Given the description of an element on the screen output the (x, y) to click on. 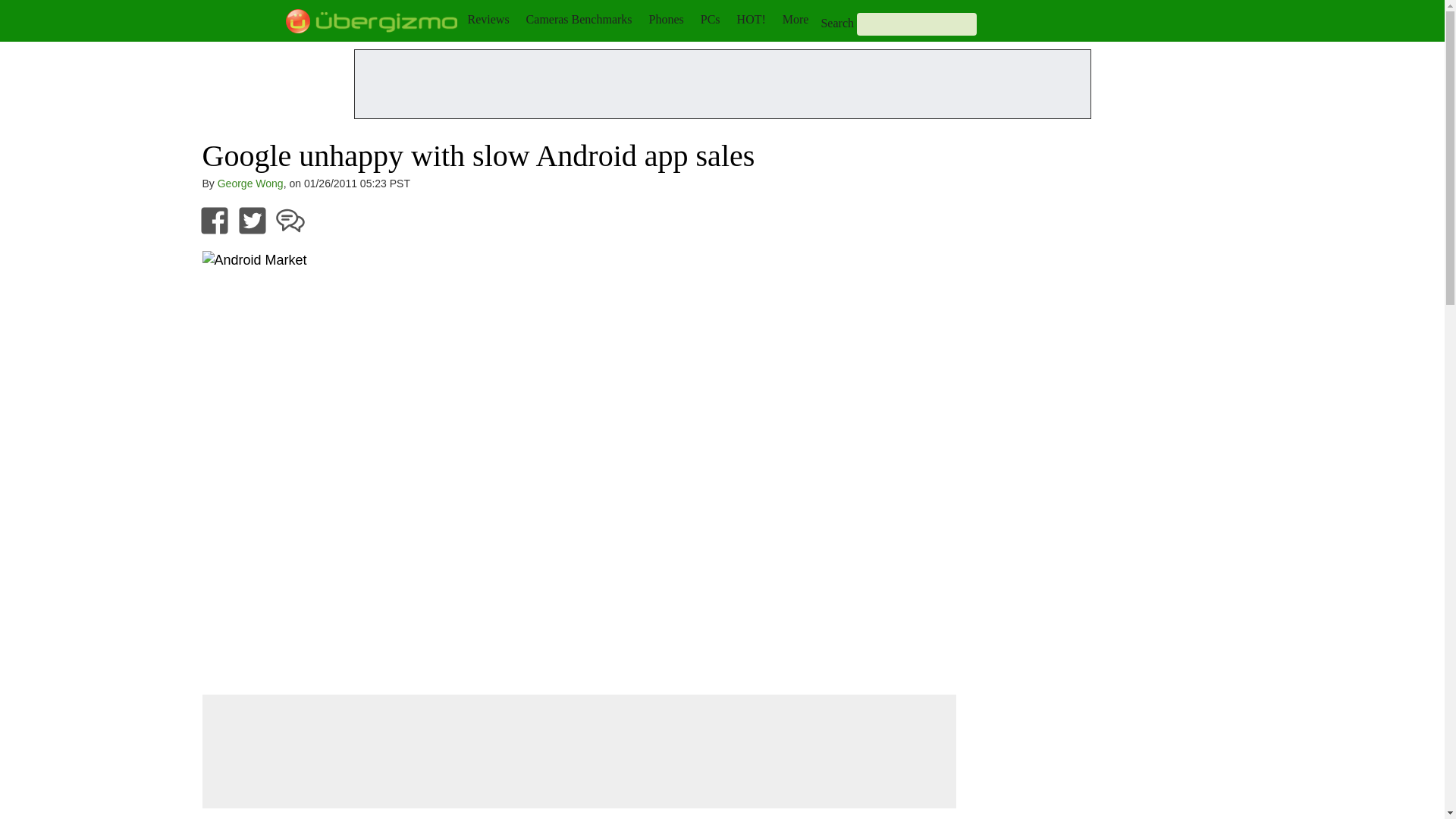
Phones (666, 19)
PCs (710, 19)
Reviews (487, 19)
Cameras Benchmarks (578, 19)
